Given the description of an element on the screen output the (x, y) to click on. 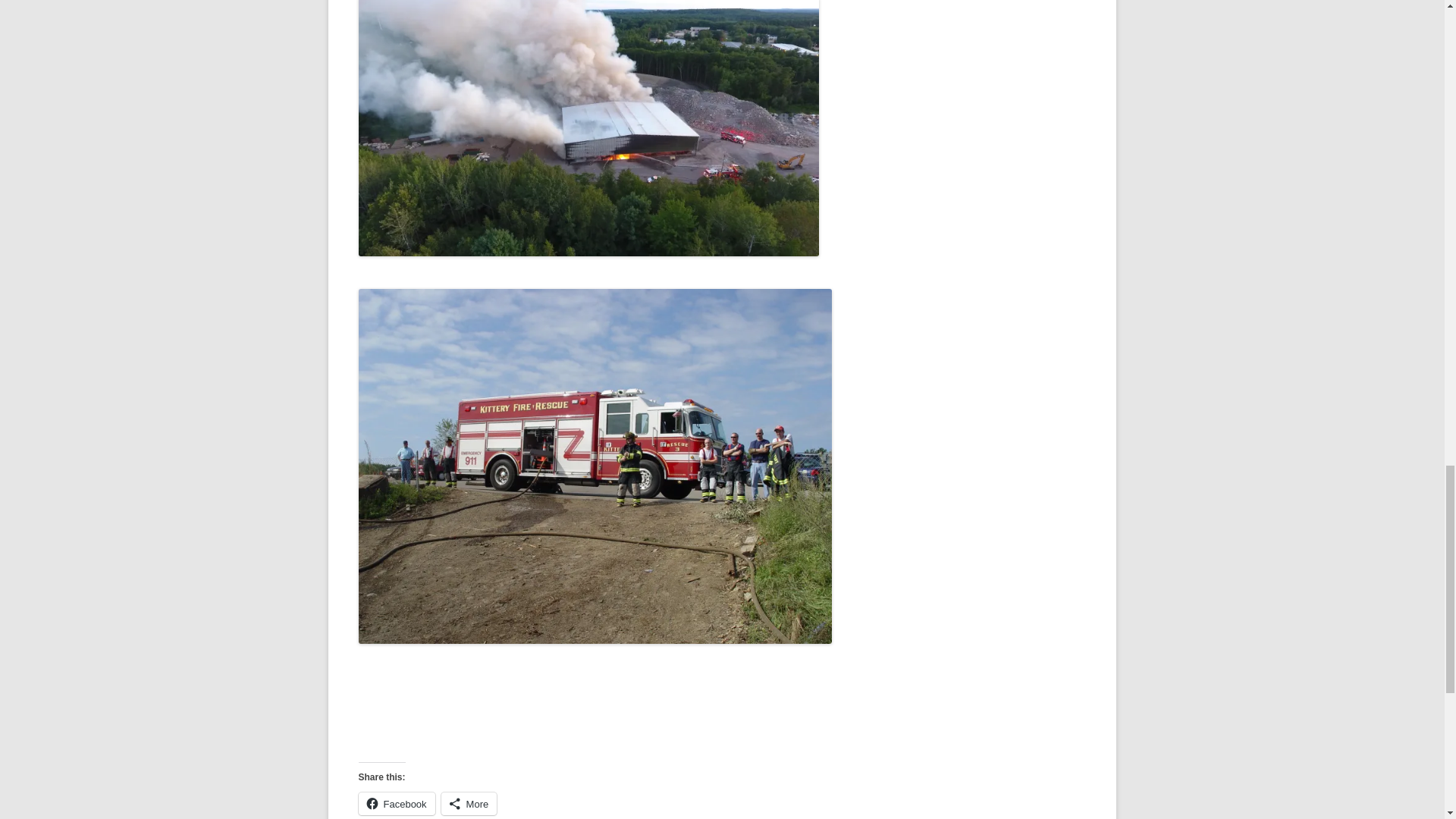
More (469, 803)
Facebook (395, 803)
Click to share on Facebook (395, 803)
